Given the description of an element on the screen output the (x, y) to click on. 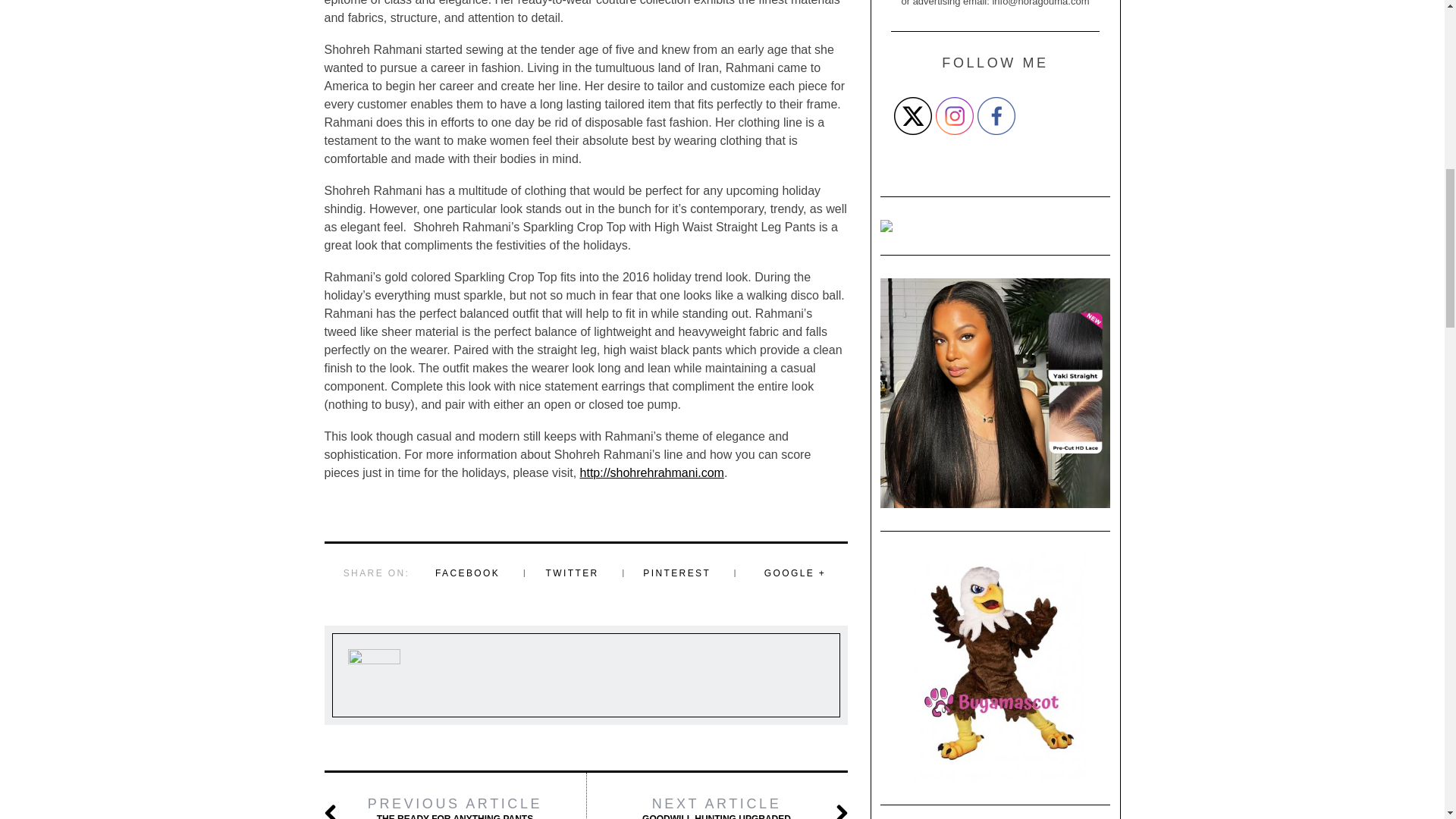
Facebook (995, 116)
Affordbable Mascot Costumes for Every Event - Buyamascot.com (994, 668)
Twitter (912, 116)
Instagram (955, 116)
